Given the description of an element on the screen output the (x, y) to click on. 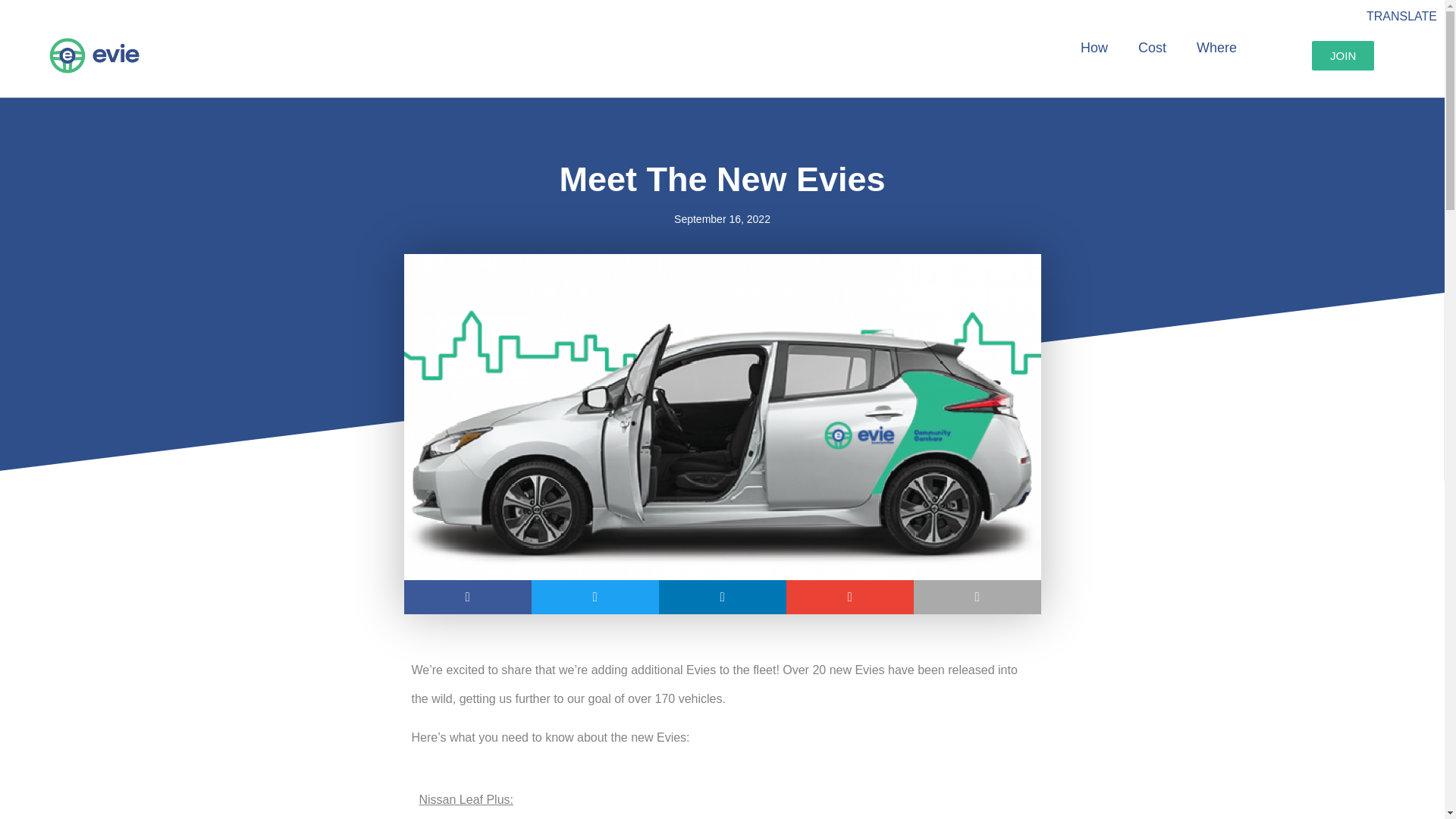
JOIN (1341, 55)
Where (1216, 47)
September 16, 2022 (722, 219)
TRANSLATE (1402, 15)
